Given the description of an element on the screen output the (x, y) to click on. 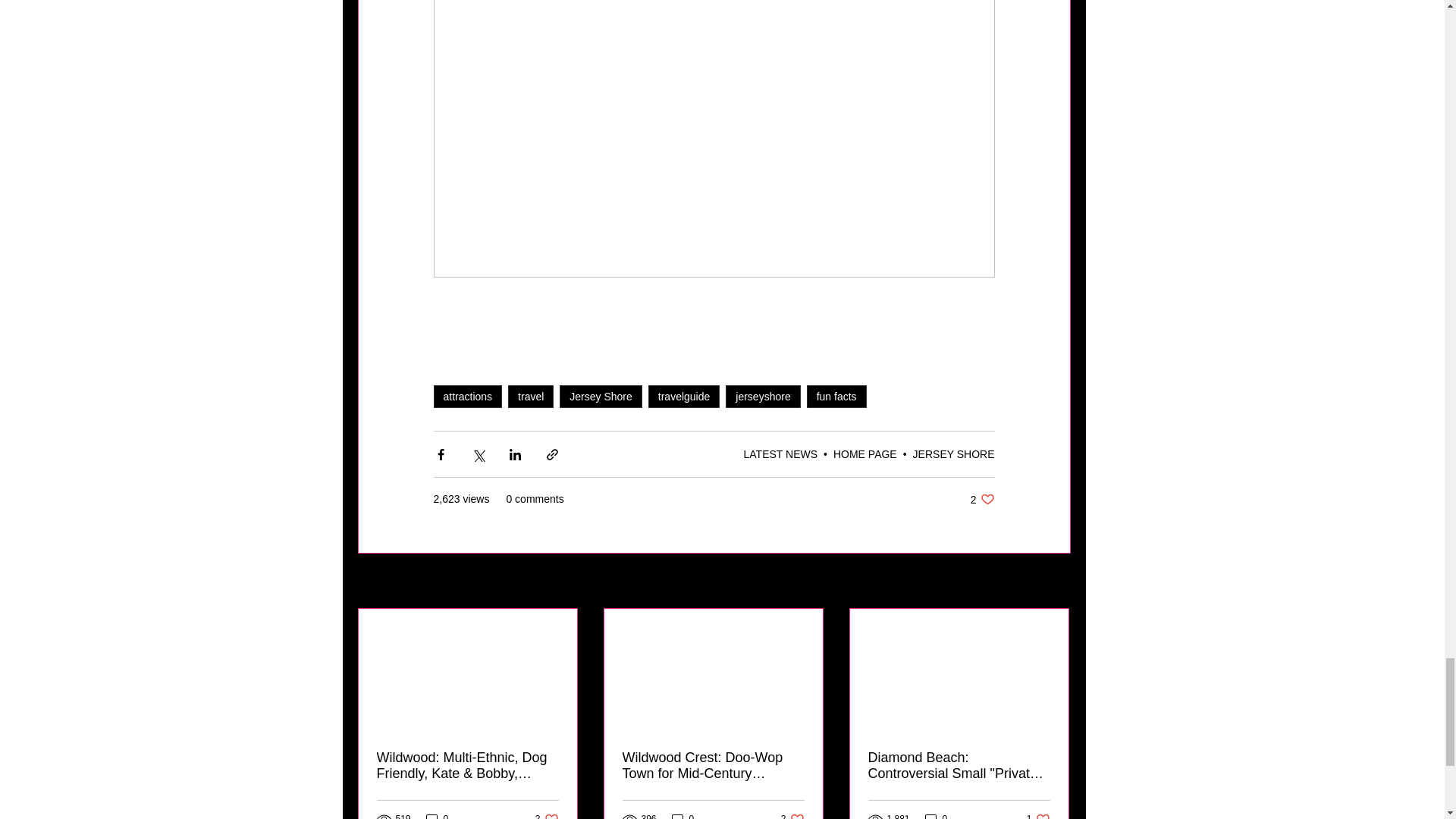
attractions (467, 395)
travel (530, 395)
